Given the description of an element on the screen output the (x, y) to click on. 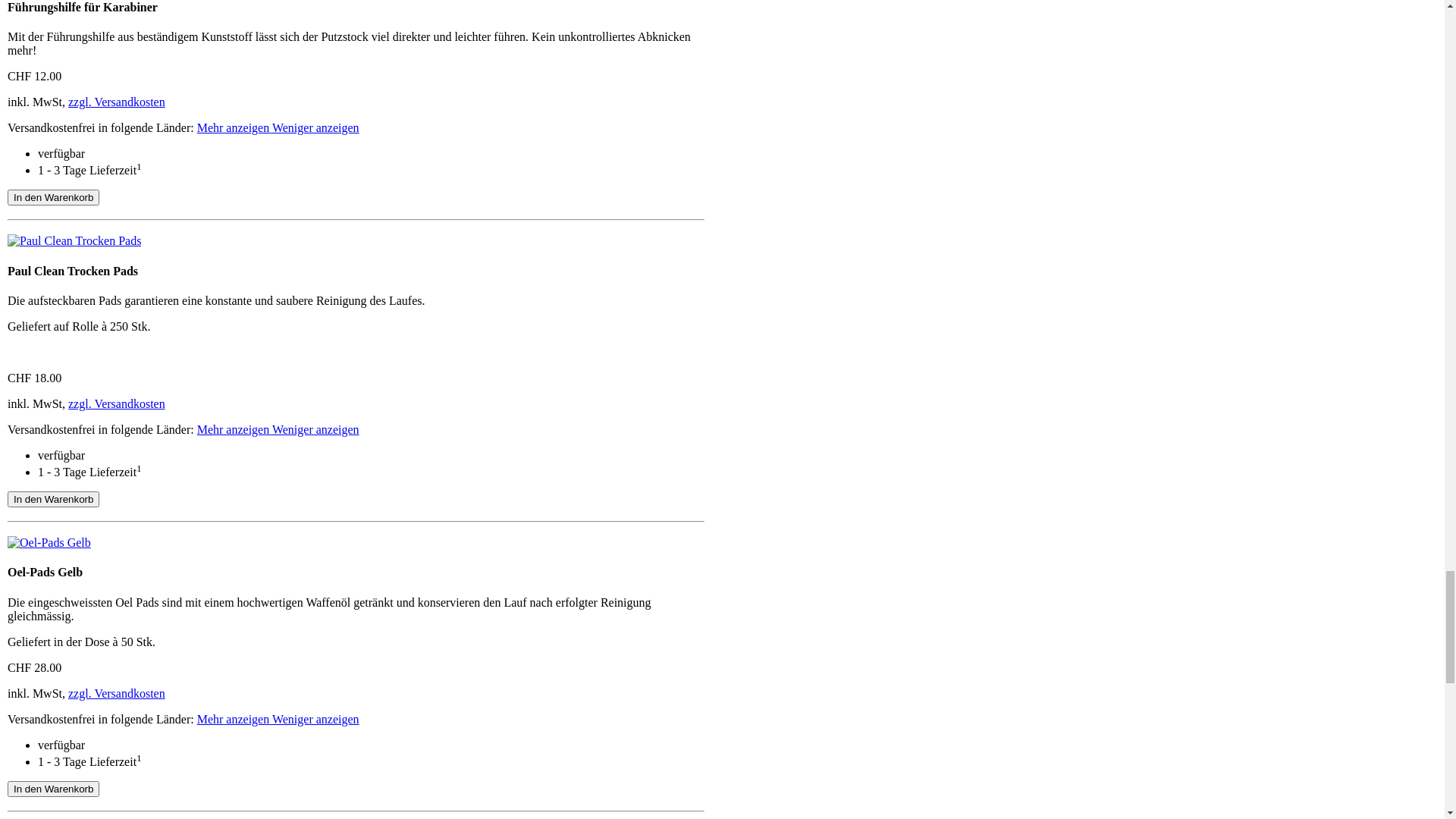
Kontakt Element type: text (49, 60)
zzgl. Versandkosten Element type: text (116, 566)
Shop Element type: text (42, 275)
Produkte Element type: text (52, 33)
Shop Element type: text (42, 222)
Kontakt Element type: text (49, 235)
Verkaufspartner Element type: text (68, 74)
In den Warenkorb Element type: text (53, 662)
Shop Element type: text (42, 46)
Mehr anzeigen Weniger anzeigen Element type: text (278, 592)
Produkte Element type: text (52, 208)
Verkaufspartner Element type: text (68, 249)
